Given the description of an element on the screen output the (x, y) to click on. 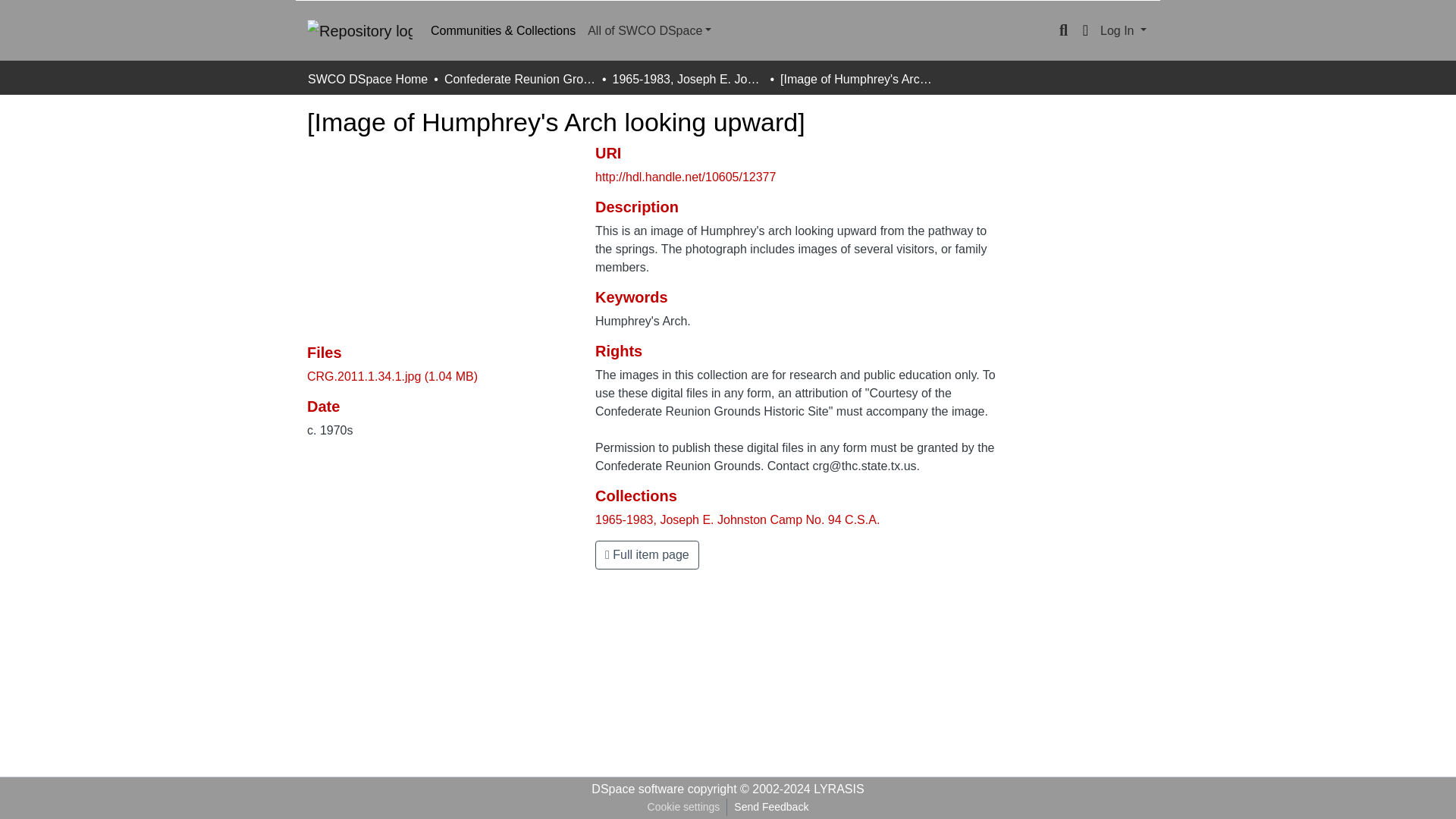
Send Feedback (770, 806)
All of SWCO DSpace (648, 30)
1965-1983, Joseph E. Johnston Camp No. 94 C.S.A. (737, 519)
1965-1983, Joseph E. Johnston Camp No. 94 C.S.A. (686, 79)
Search (1063, 30)
Full item page (646, 554)
Confederate Reunion Grounds State Historic Site (519, 79)
LYRASIS (838, 788)
SWCO DSpace Home (367, 79)
Language switch (1084, 30)
